Given the description of an element on the screen output the (x, y) to click on. 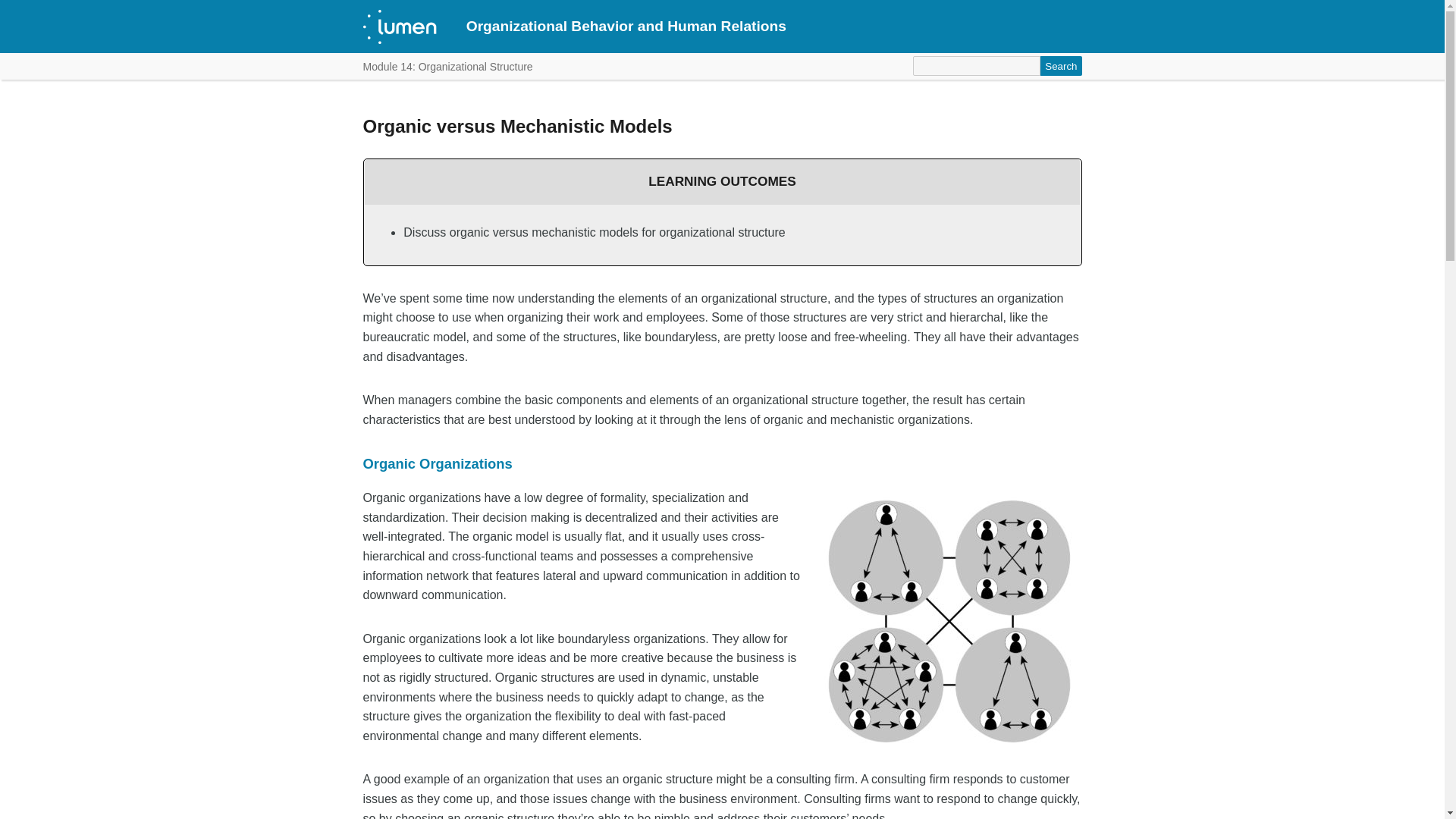
Search (1061, 66)
Search (1061, 66)
Organizational Behavior and Human Relations (625, 26)
Organizational Behavior and Human Relations (625, 26)
